Given the description of an element on the screen output the (x, y) to click on. 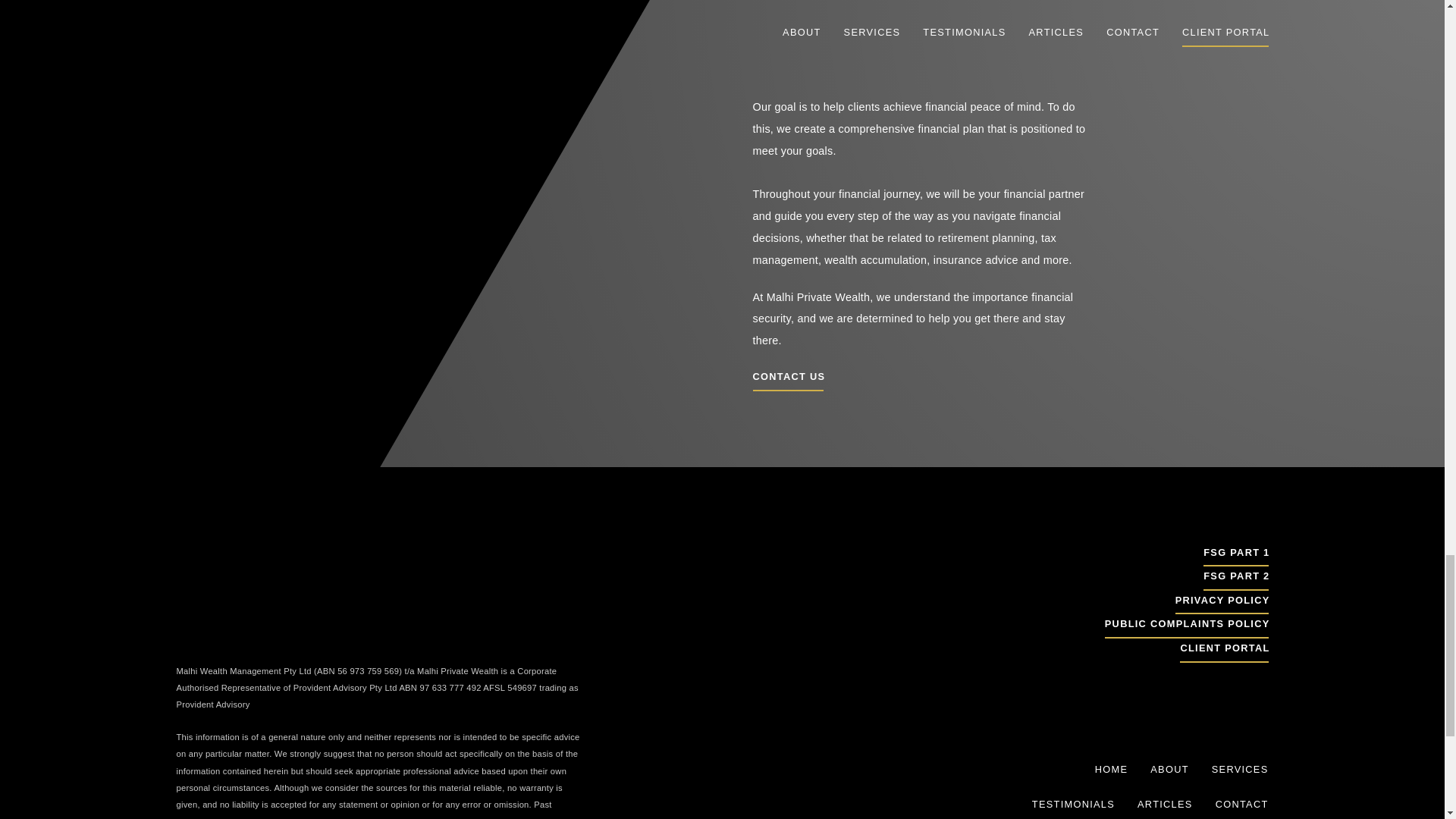
CLIENT PORTAL (1223, 650)
CONTACT (1241, 803)
ARTICLES (1164, 803)
TESTIMONIALS (1073, 803)
FSG PART 2 (1236, 578)
PUBLIC COMPLAINTS POLICY (1186, 626)
ABOUT (1169, 769)
PRIVACY POLICY (1221, 602)
CONTACT US (788, 378)
HOME (1111, 769)
SERVICES (1239, 769)
FSG PART 1 (1236, 554)
